Given the description of an element on the screen output the (x, y) to click on. 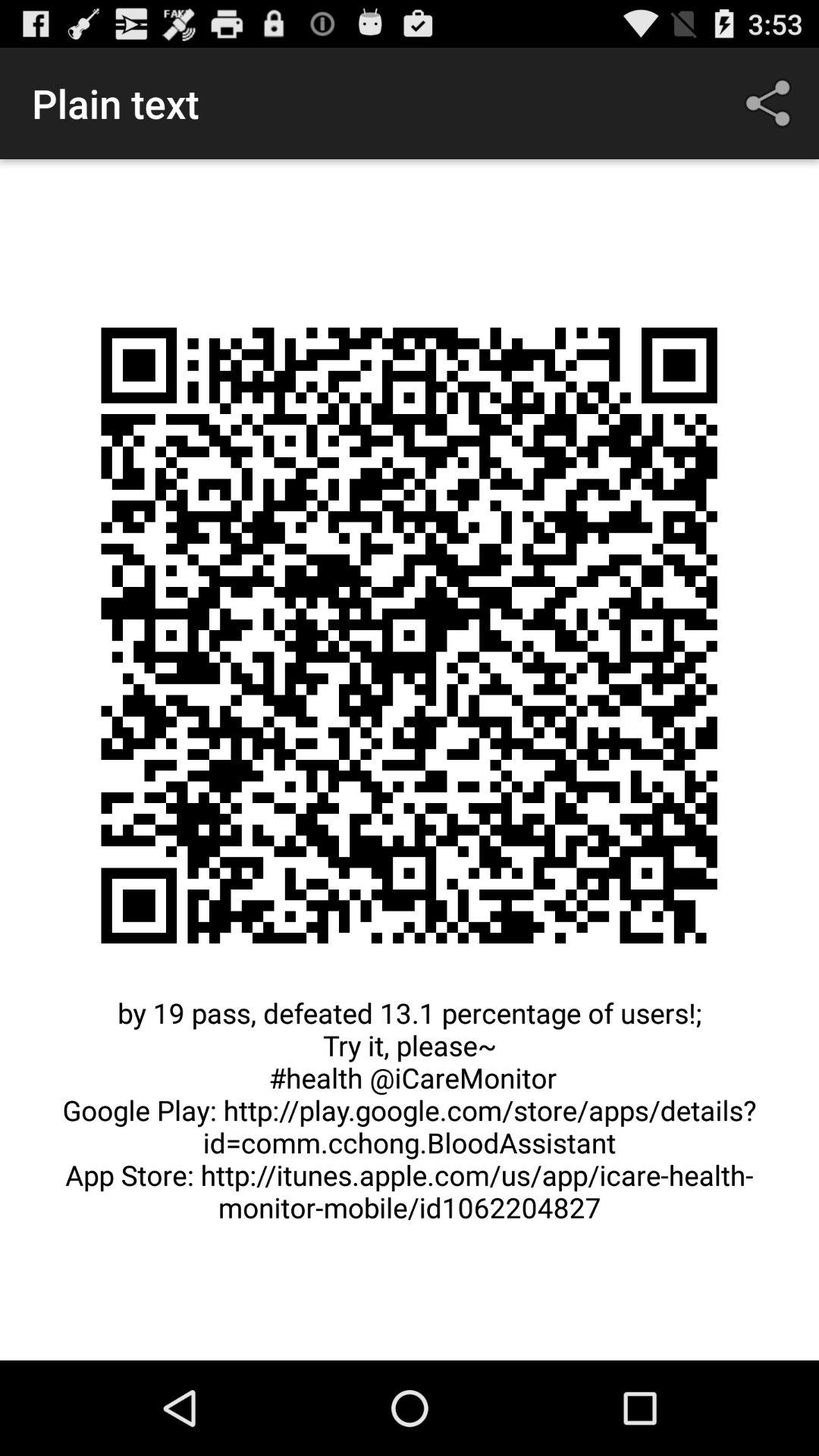
turn on item to the right of plain text item (771, 103)
